Given the description of an element on the screen output the (x, y) to click on. 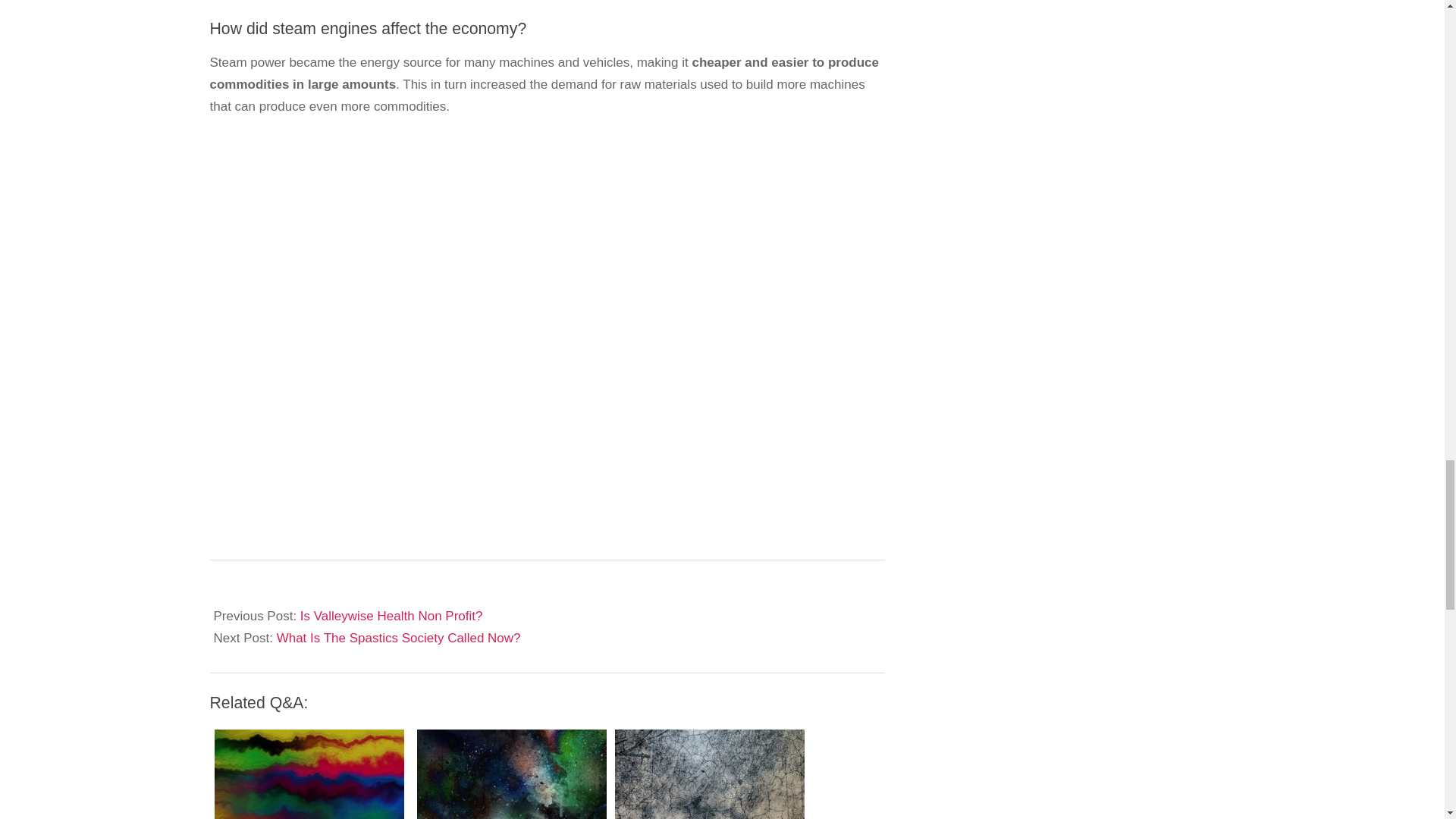
Is Valleywise Health Non Profit? (391, 616)
What are the causes of overheating in an engine? (709, 774)
Does SteelSeries work on steam? (308, 774)
Does SteelSeries work on steam? (310, 771)
What Is The Spastics Society Called Now? (398, 637)
Why did the Wankel engine fail? (511, 774)
